Given the description of an element on the screen output the (x, y) to click on. 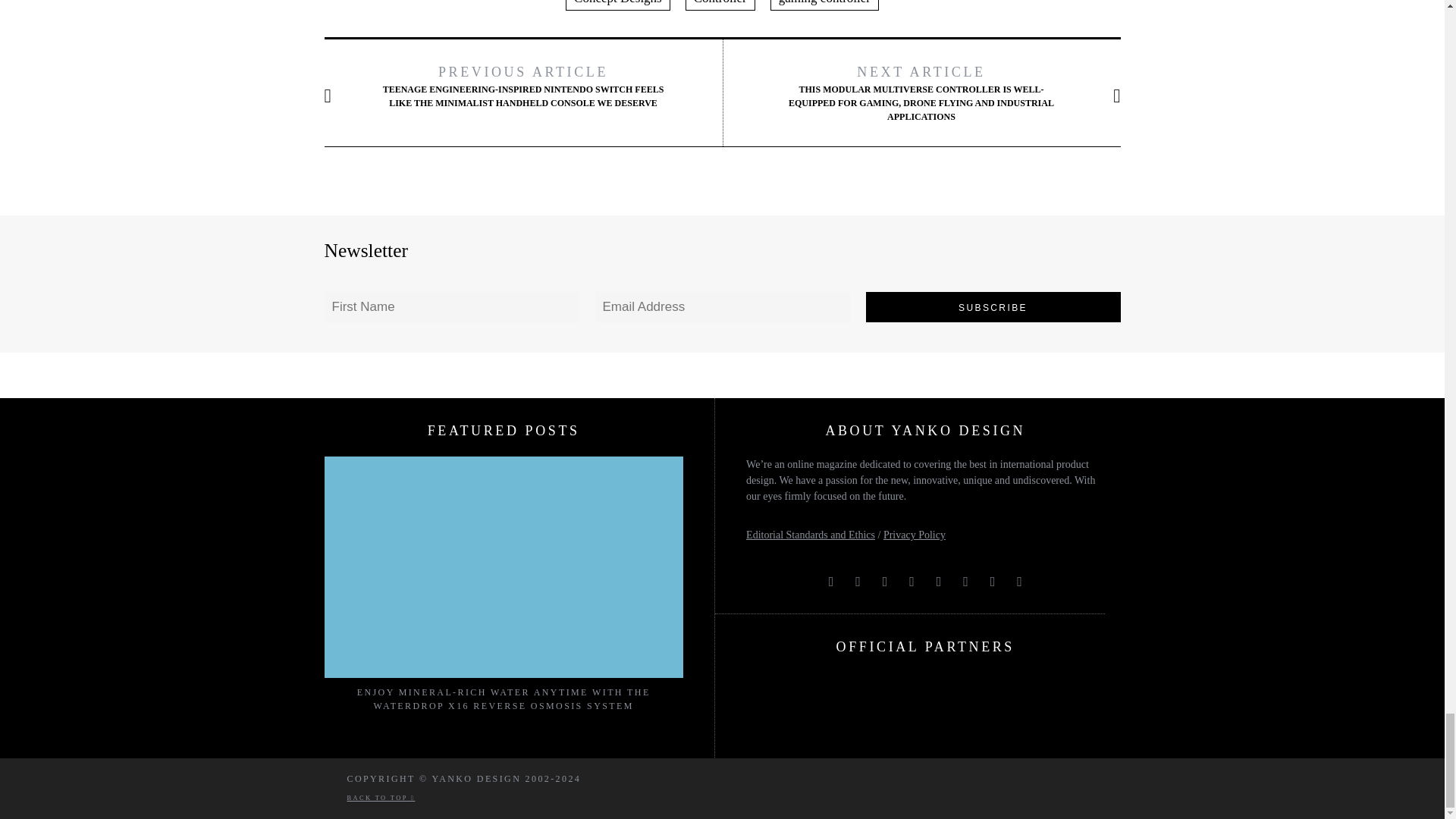
Privacy Policy (913, 534)
Editorial Standards and Ethics (810, 534)
Subscribe (993, 306)
